Given the description of an element on the screen output the (x, y) to click on. 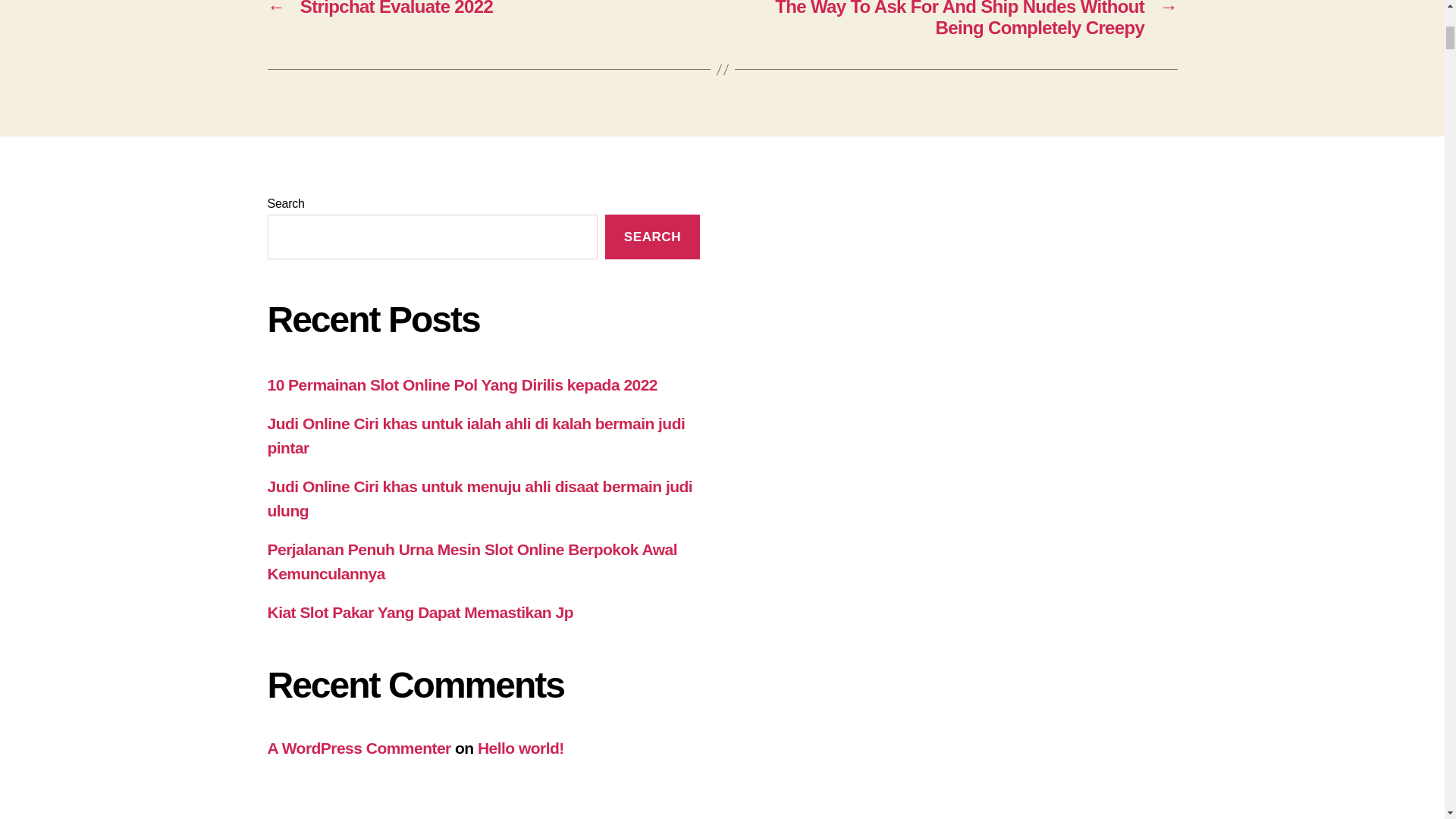
A WordPress Commenter (357, 747)
Kiat Slot Pakar Yang Dapat Memastikan Jp (419, 611)
10 Permainan Slot Online Pol Yang Dirilis kepada 2022 (462, 384)
Hello world! (520, 747)
SEARCH (651, 236)
